Given the description of an element on the screen output the (x, y) to click on. 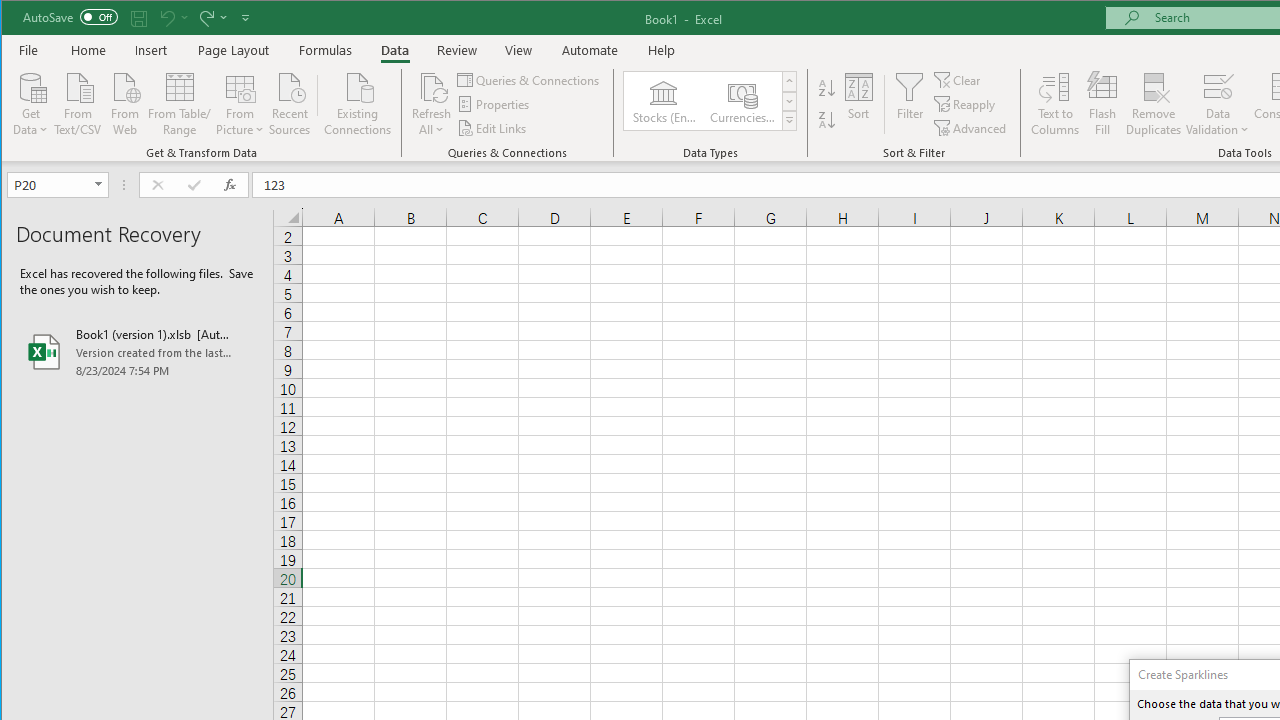
Sort... (859, 104)
Sort Smallest to Largest (827, 88)
Sort Largest to Smallest (827, 119)
From Web (124, 101)
